Given the description of an element on the screen output the (x, y) to click on. 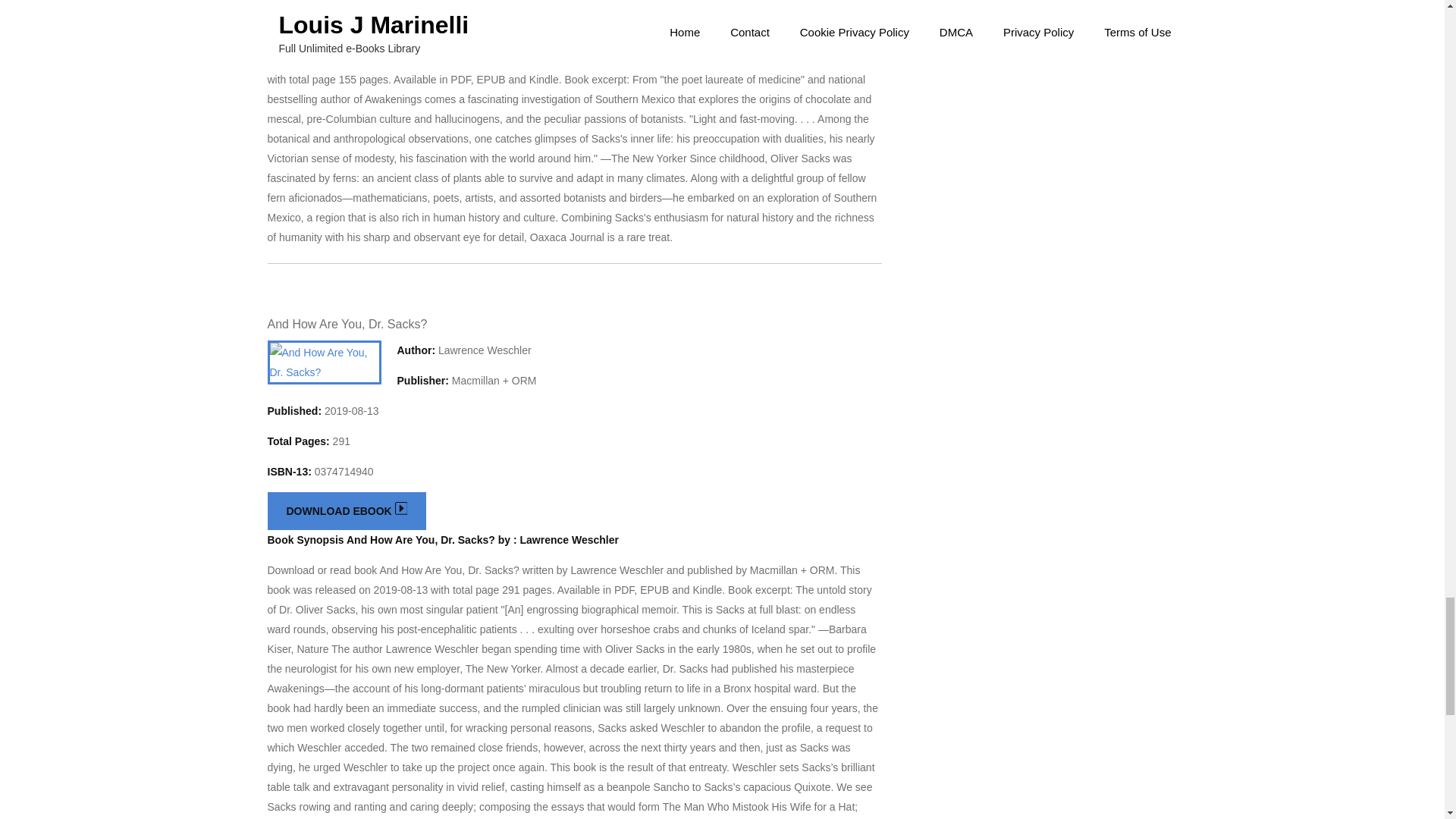
DOWNLOAD EBOOK (346, 510)
And How Are You, Dr. Sacks? (346, 323)
DOWNLOAD EBOOK (346, 9)
